Given the description of an element on the screen output the (x, y) to click on. 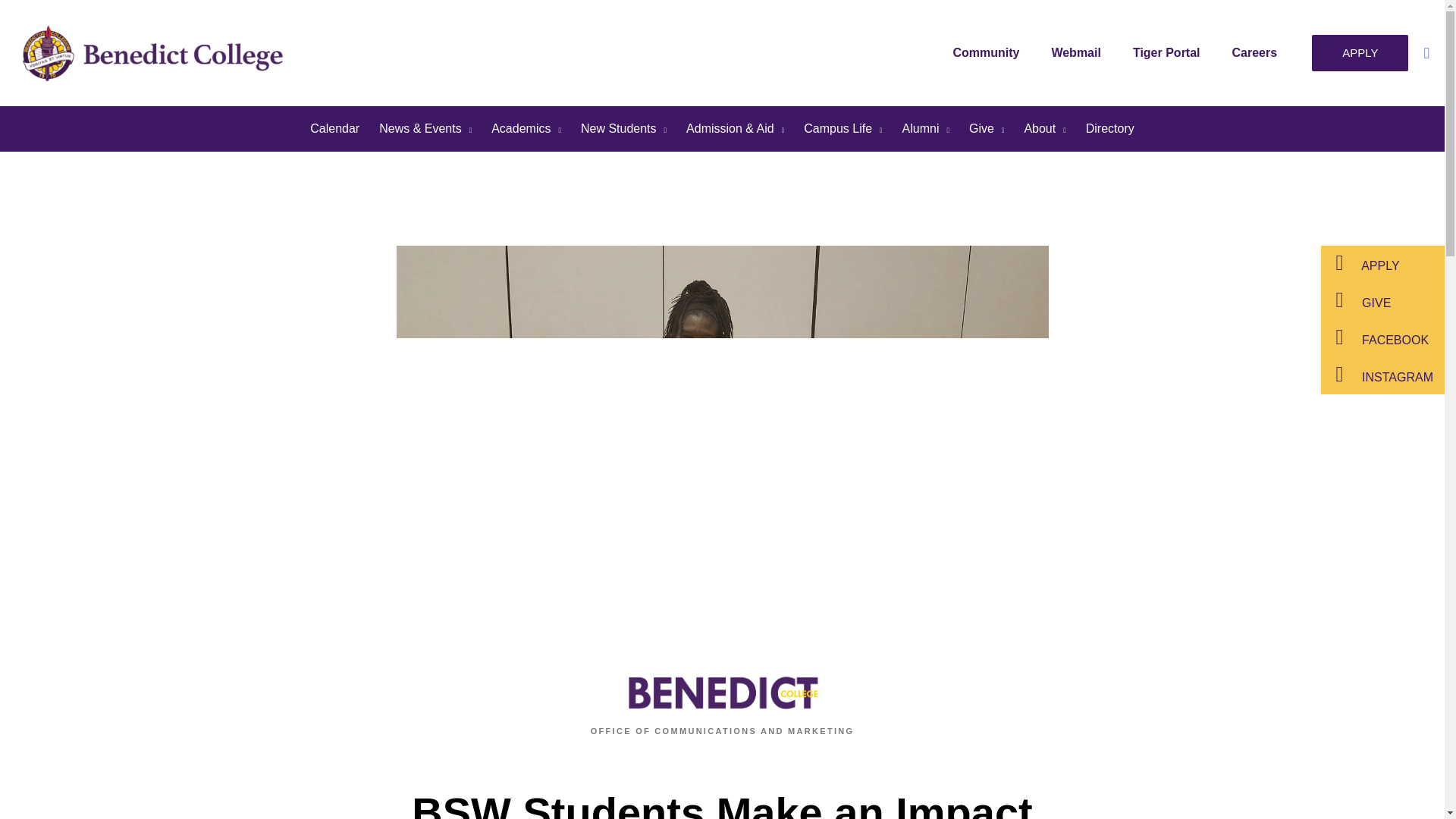
Careers (1258, 52)
APPLY (1359, 53)
Community (989, 52)
Webmail (1080, 52)
Calendar (334, 128)
Academics (525, 128)
Tiger Portal (1170, 52)
